Given the description of an element on the screen output the (x, y) to click on. 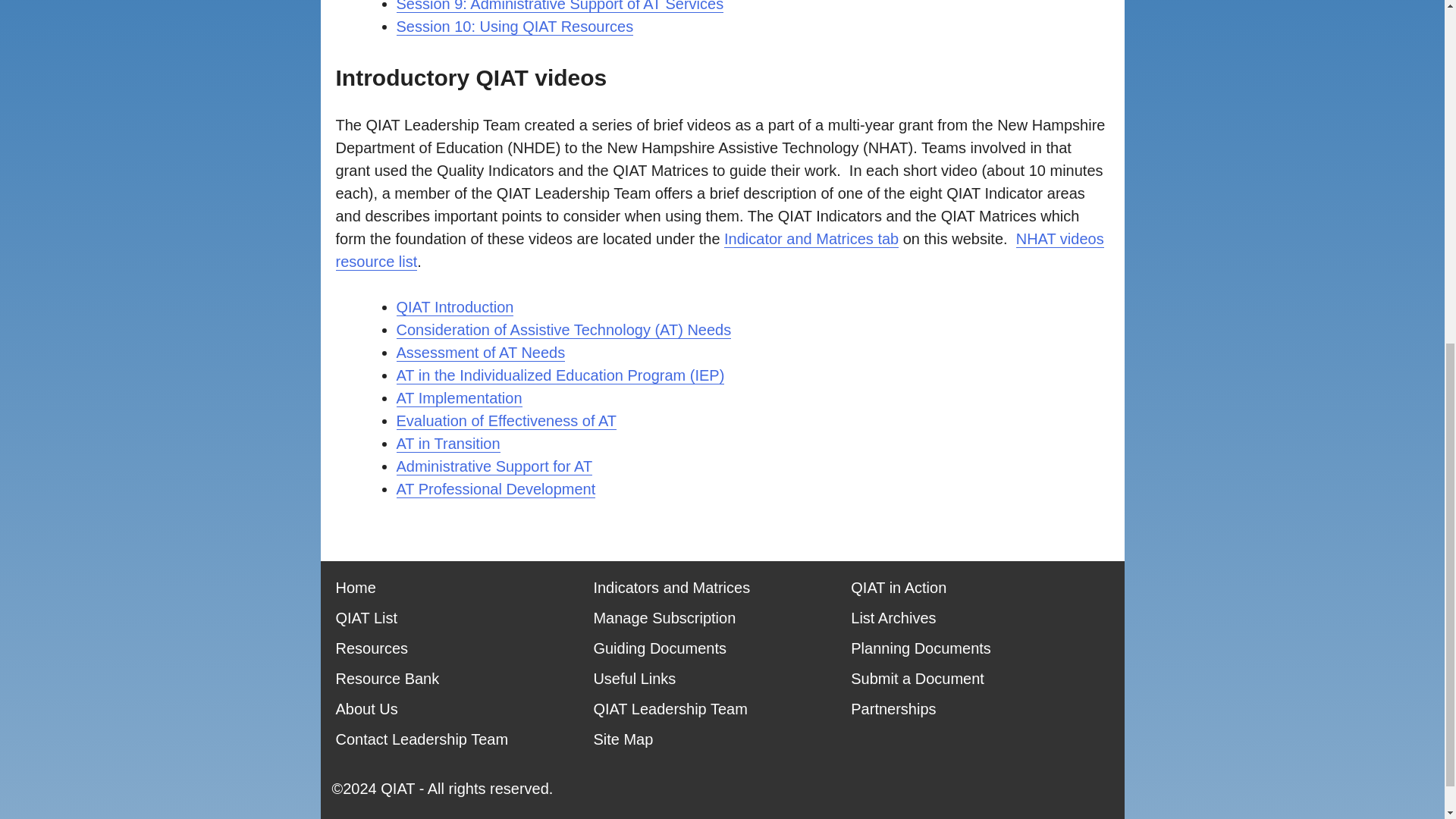
Assessment of AT Needs (480, 352)
Session 9: Administrative Support of AT Services (559, 6)
Indicator and Matrices tab (810, 239)
Session 10: Using QIAT Resources (514, 27)
NHAT videos resource list (718, 250)
QIAT Introduction (454, 307)
